Given the description of an element on the screen output the (x, y) to click on. 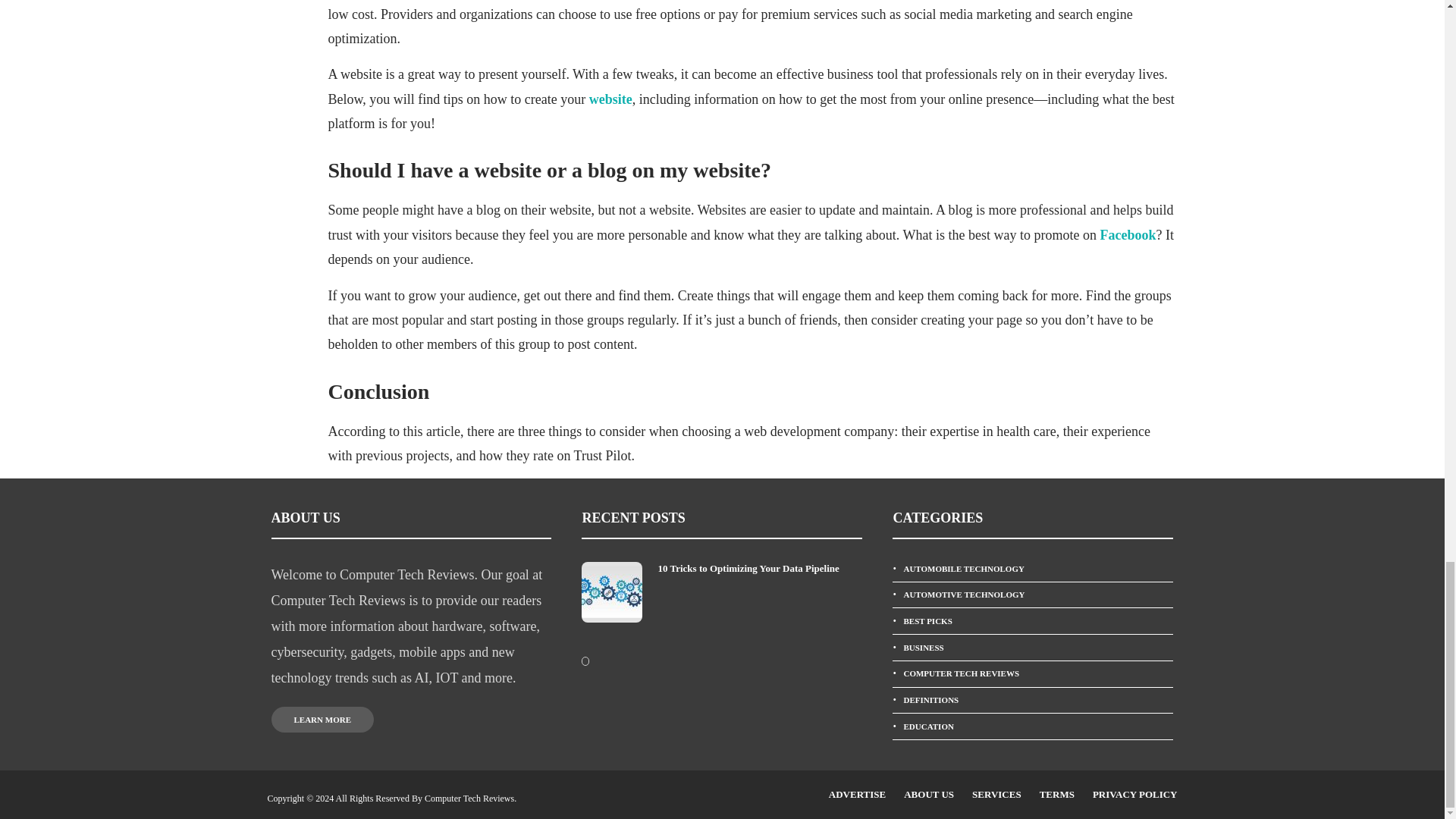
website (610, 99)
LEARN MORE (322, 719)
Facebook (1127, 234)
10 Tricks to Optimizing Your Data Pipeline (759, 568)
